Given the description of an element on the screen output the (x, y) to click on. 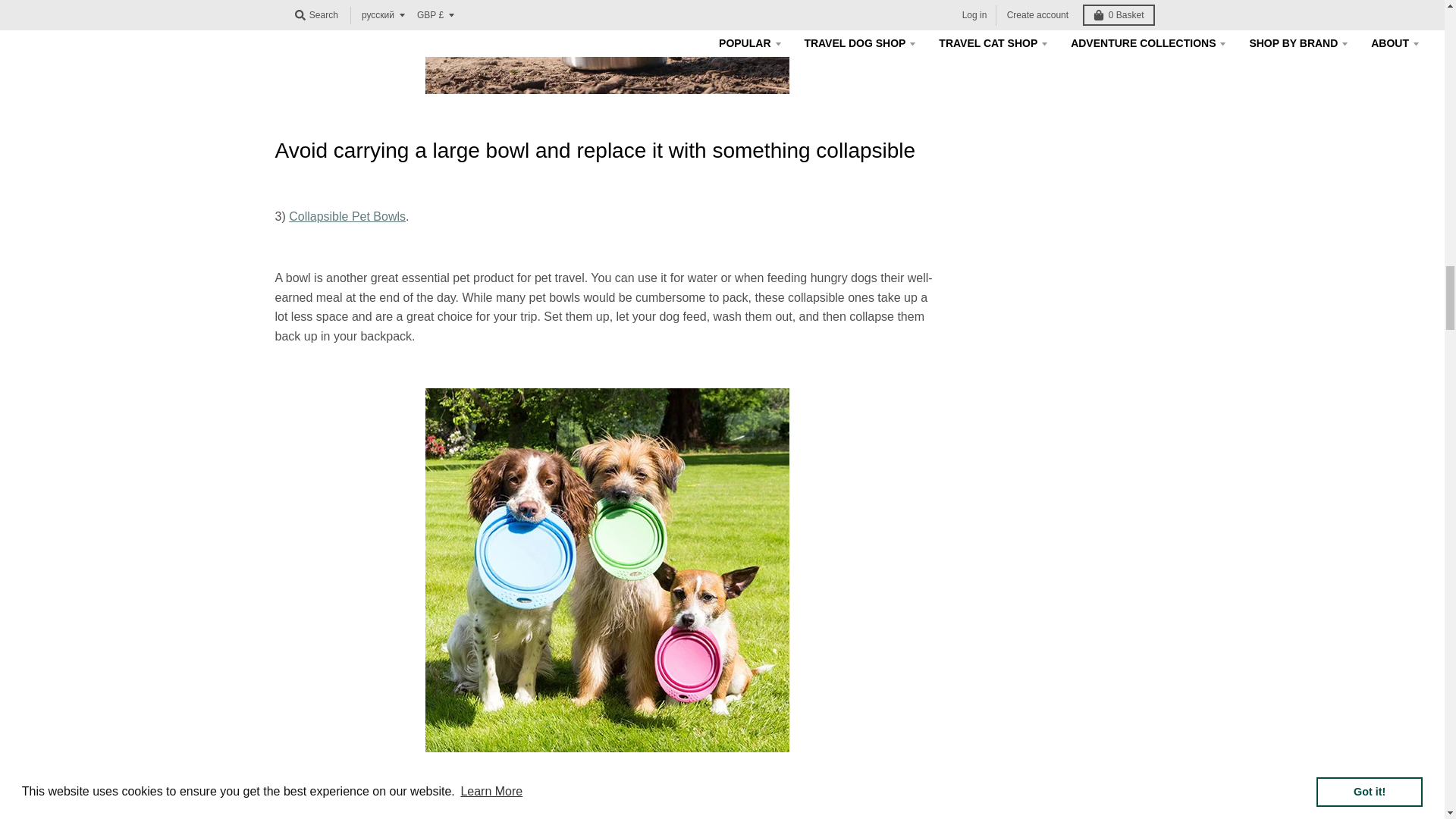
pet collapsible bowl (347, 215)
